Given the description of an element on the screen output the (x, y) to click on. 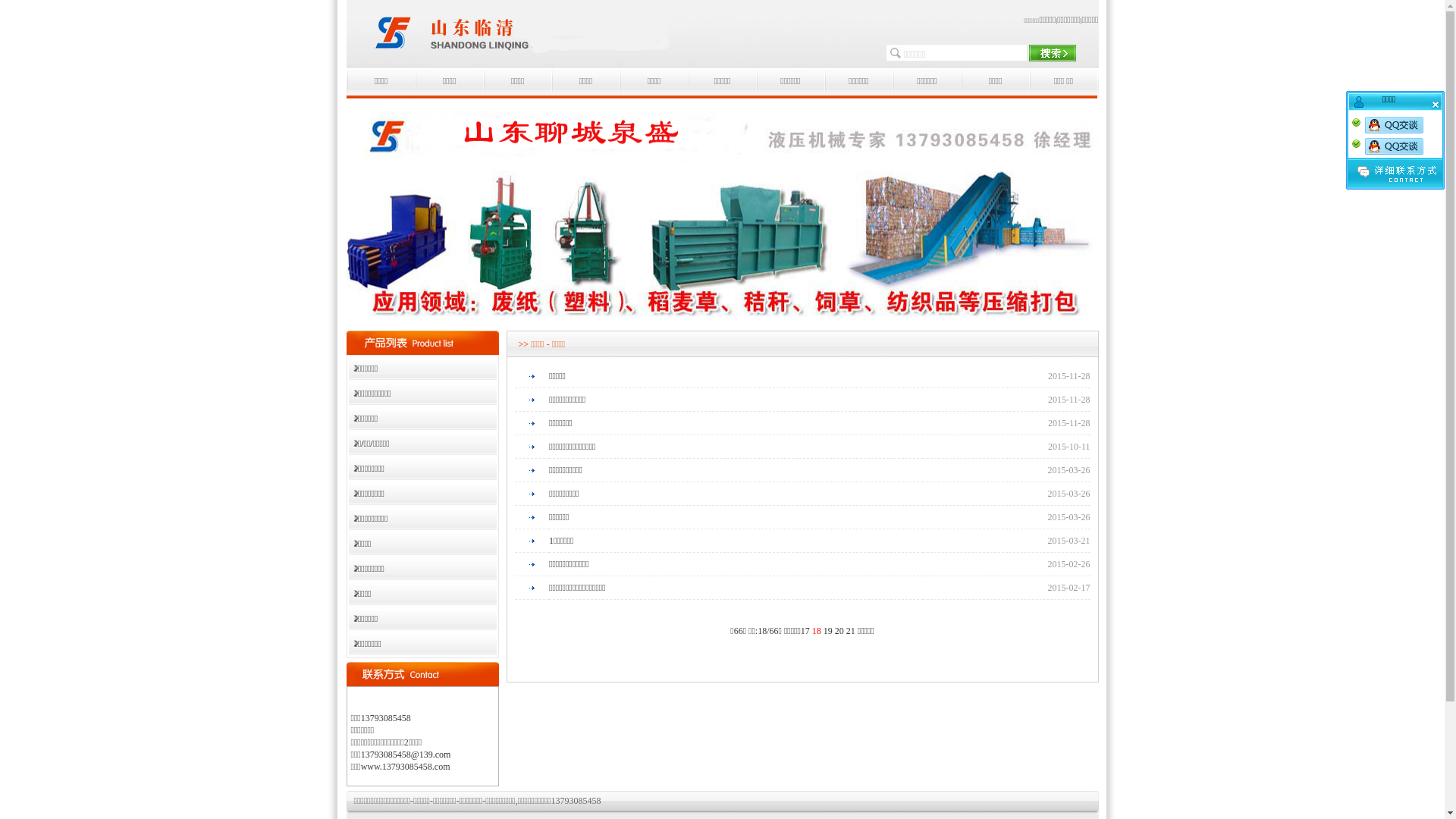
21 Element type: text (850, 630)
19 Element type: text (827, 630)
20 Element type: text (839, 630)
13793085458@139.com Element type: text (405, 754)
17 Element type: text (804, 630)
